Given the description of an element on the screen output the (x, y) to click on. 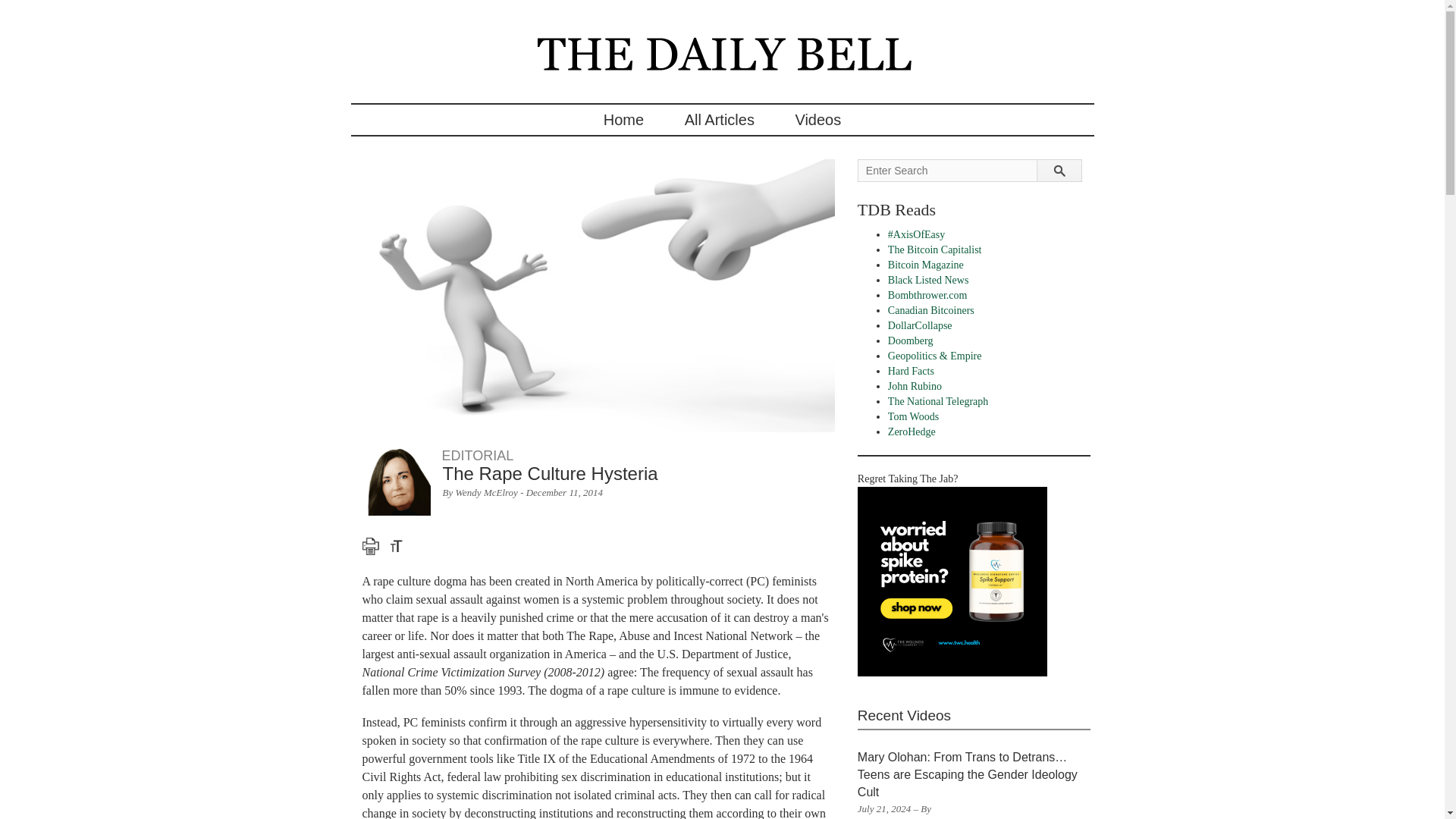
DollarCollapse (920, 325)
Videos (818, 119)
The National Telegraph (938, 401)
Hard Facts (911, 370)
Black Listed News (928, 279)
All Articles (719, 119)
Bitcoin Magazine (925, 265)
Doomberg (910, 340)
ZeroHedge (912, 431)
Tom Woods (913, 416)
